Given the description of an element on the screen output the (x, y) to click on. 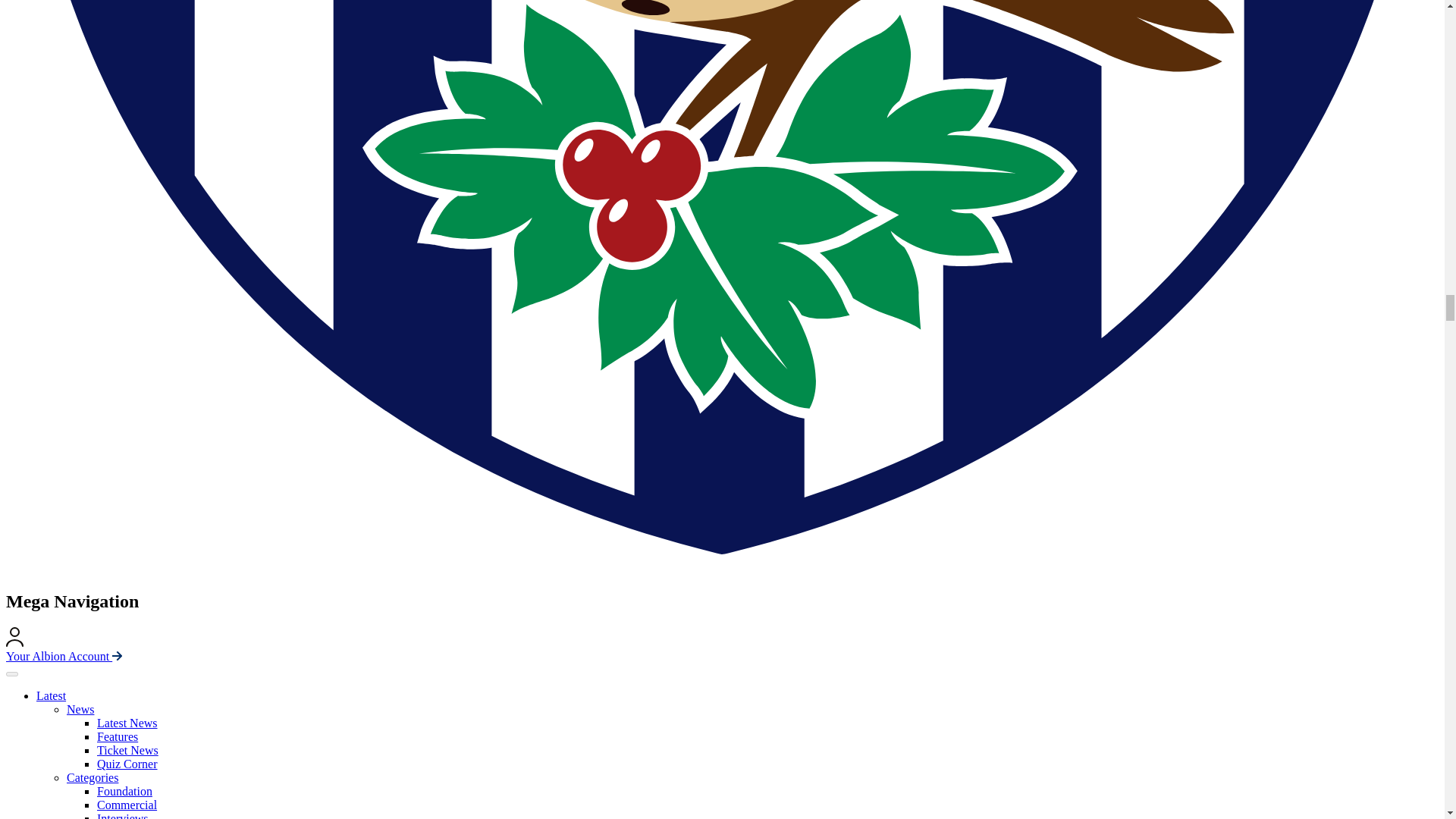
Latest (50, 695)
News (80, 708)
